Given the description of an element on the screen output the (x, y) to click on. 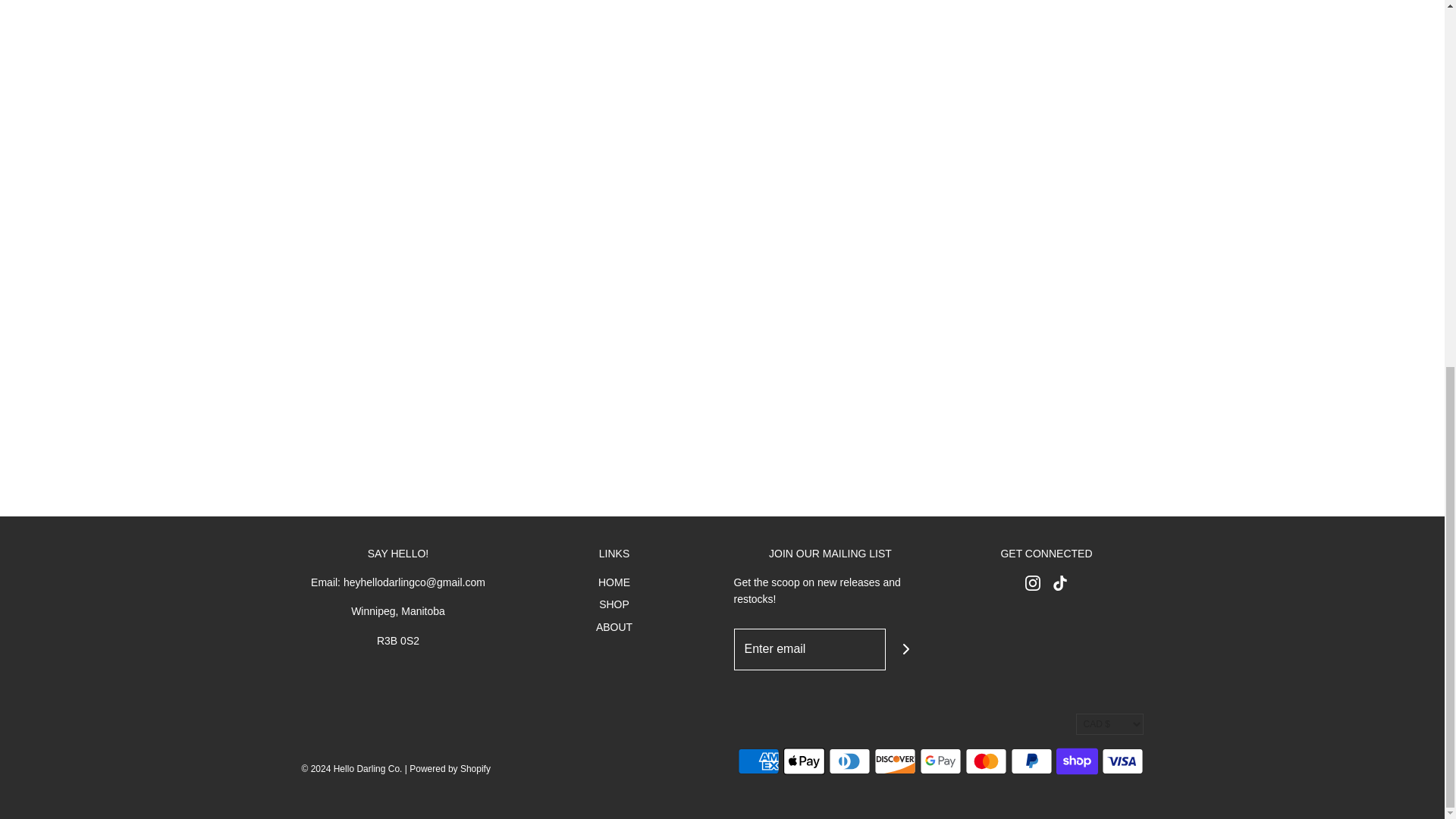
PayPal (1030, 761)
Mastercard (984, 761)
Diners Club (848, 761)
American Express (757, 761)
Discover (894, 761)
TikTok icon (1059, 582)
Google Pay (939, 761)
Shop Pay (1076, 761)
Visa (1121, 761)
Instagram icon (1033, 582)
